Given the description of an element on the screen output the (x, y) to click on. 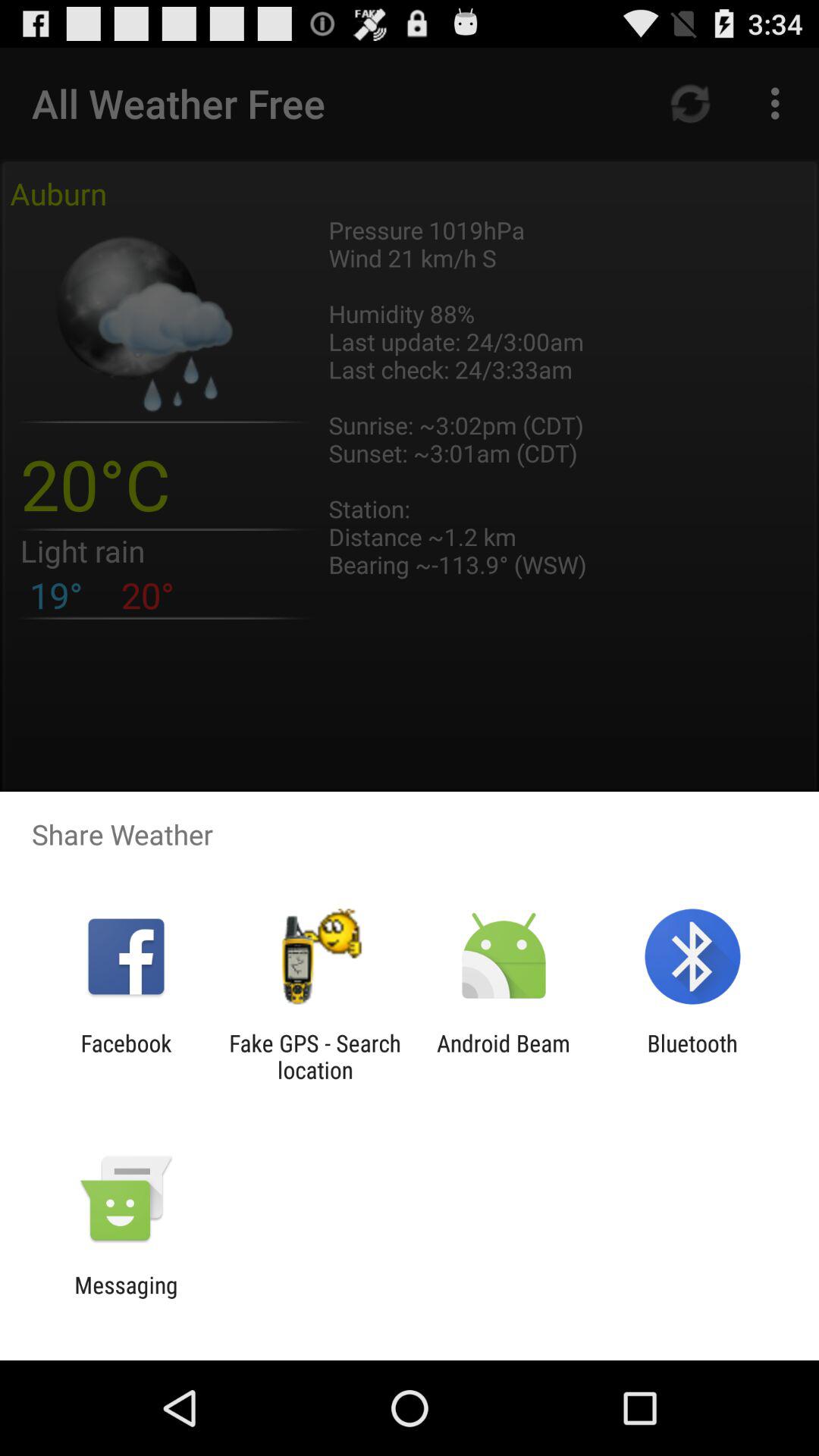
launch the messaging (126, 1298)
